Given the description of an element on the screen output the (x, y) to click on. 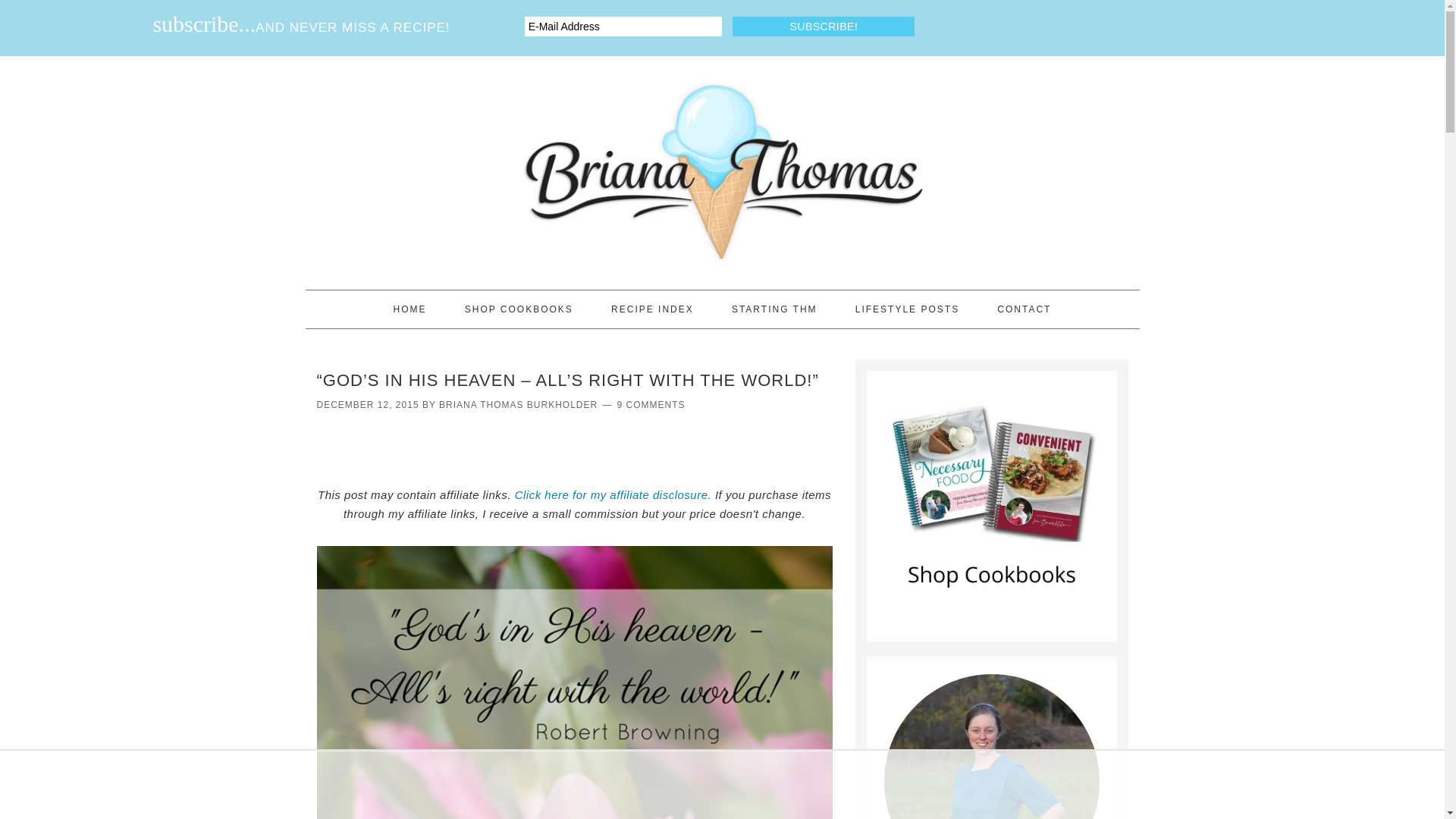
Subscribe! (823, 26)
9 COMMENTS (651, 404)
HOME (410, 309)
BRIANA THOMAS BURKHOLDER (517, 404)
Click here for my affiliate disclosure. (613, 494)
Subscribe! (823, 26)
CONTACT (1023, 309)
LIFESTYLE POSTS (906, 309)
RECIPE INDEX (652, 309)
STARTING THM (774, 309)
SHOP COOKBOOKS (518, 309)
